Given the description of an element on the screen output the (x, y) to click on. 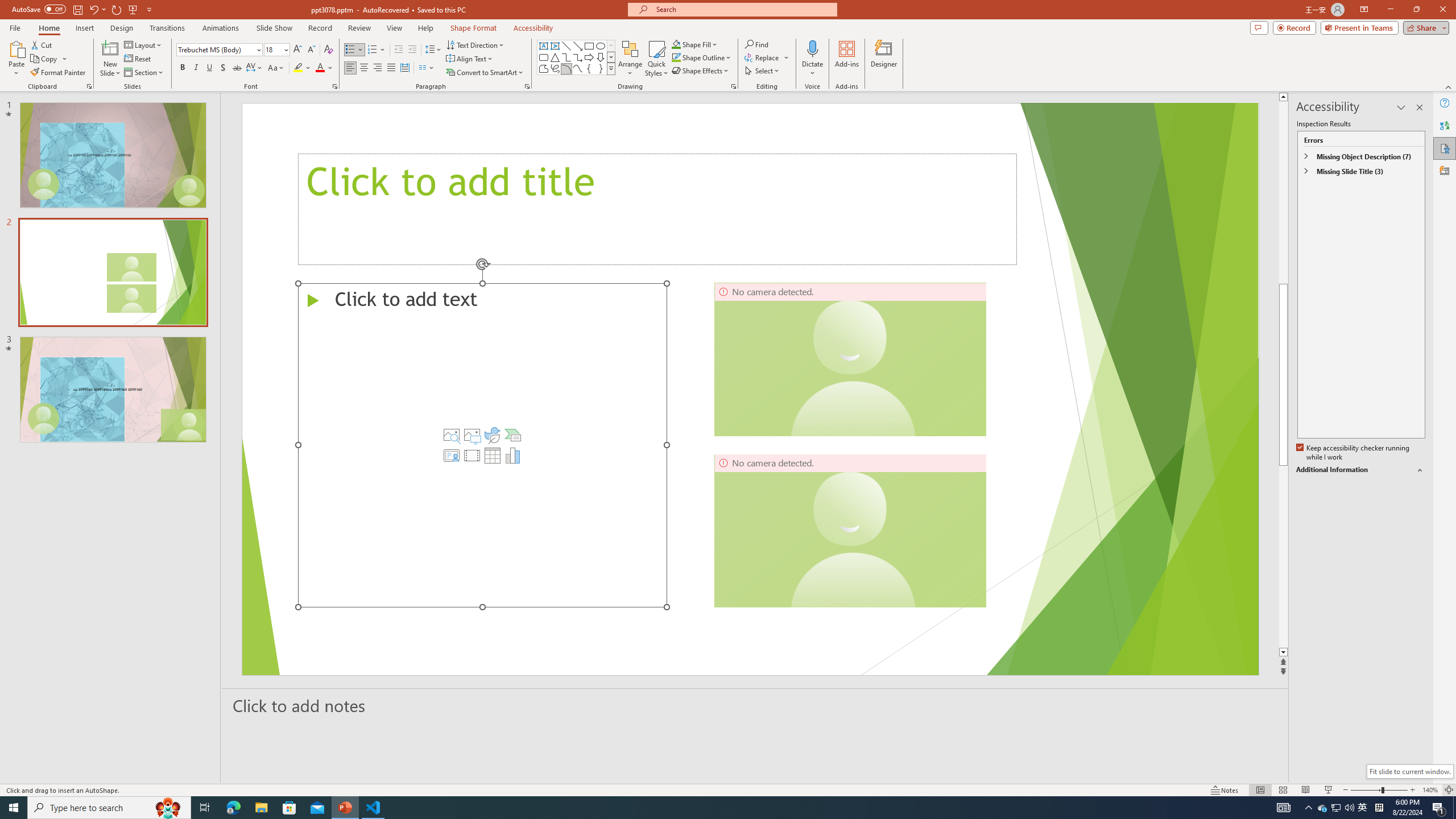
Insert Chart (512, 455)
Insert Cameo (451, 455)
Insert Table (492, 455)
